Given the description of an element on the screen output the (x, y) to click on. 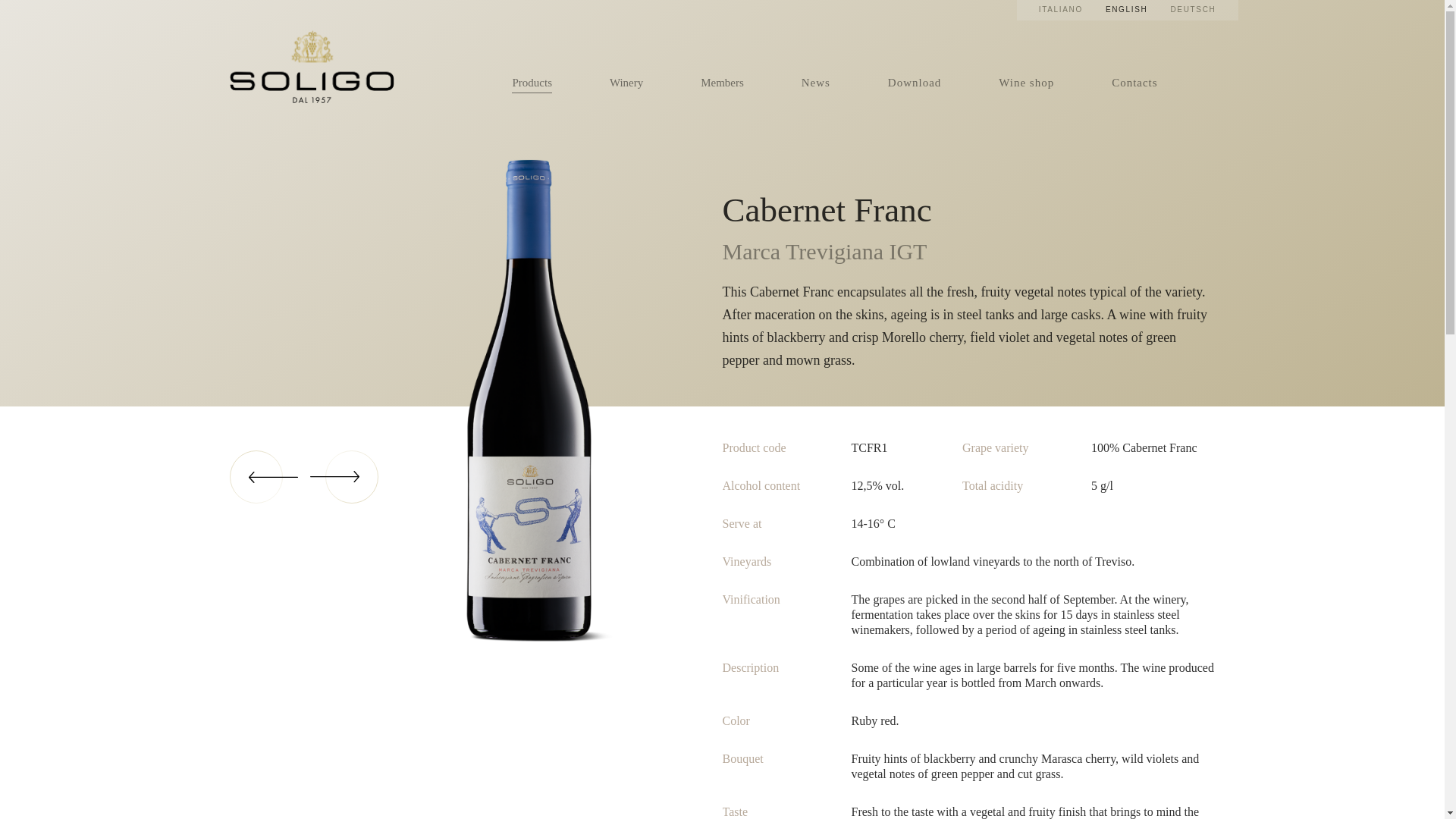
Wine shop (1026, 82)
Download (915, 82)
News (815, 82)
ITALIANO (1061, 10)
Contacts (1134, 82)
ENGLISH (1126, 10)
DEUTSCH (1192, 10)
Colli del Soligo (310, 66)
